Given the description of an element on the screen output the (x, y) to click on. 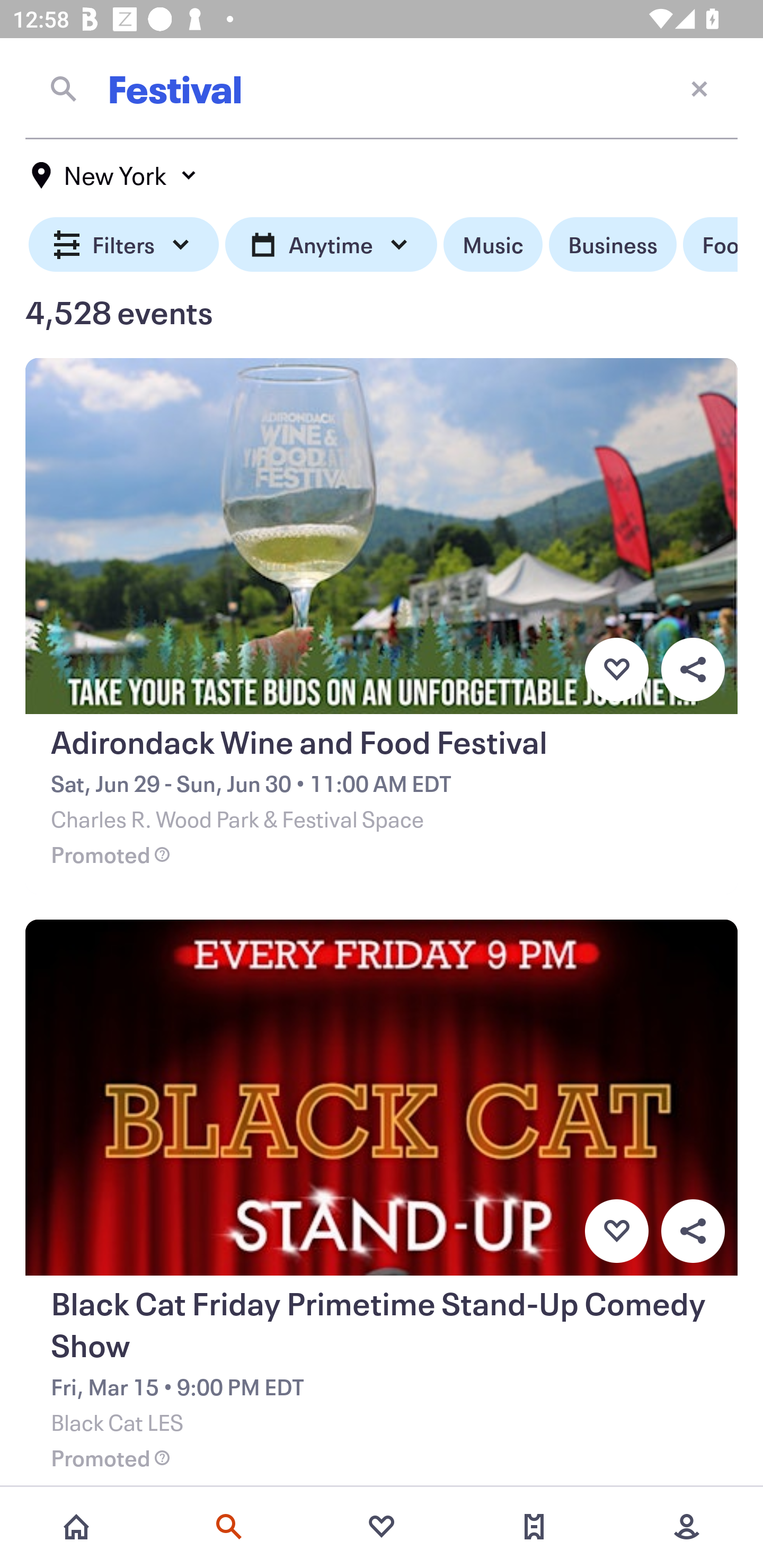
Festival Close current screen (381, 88)
Close current screen (699, 88)
New York (114, 175)
Filters (123, 244)
Anytime (331, 244)
Music (492, 244)
Business (612, 244)
Favorite button (616, 669)
Overflow menu button (692, 669)
Favorite button (616, 1230)
Overflow menu button (692, 1230)
Home (76, 1526)
Search events (228, 1526)
Favorites (381, 1526)
Tickets (533, 1526)
More (686, 1526)
